Given the description of an element on the screen output the (x, y) to click on. 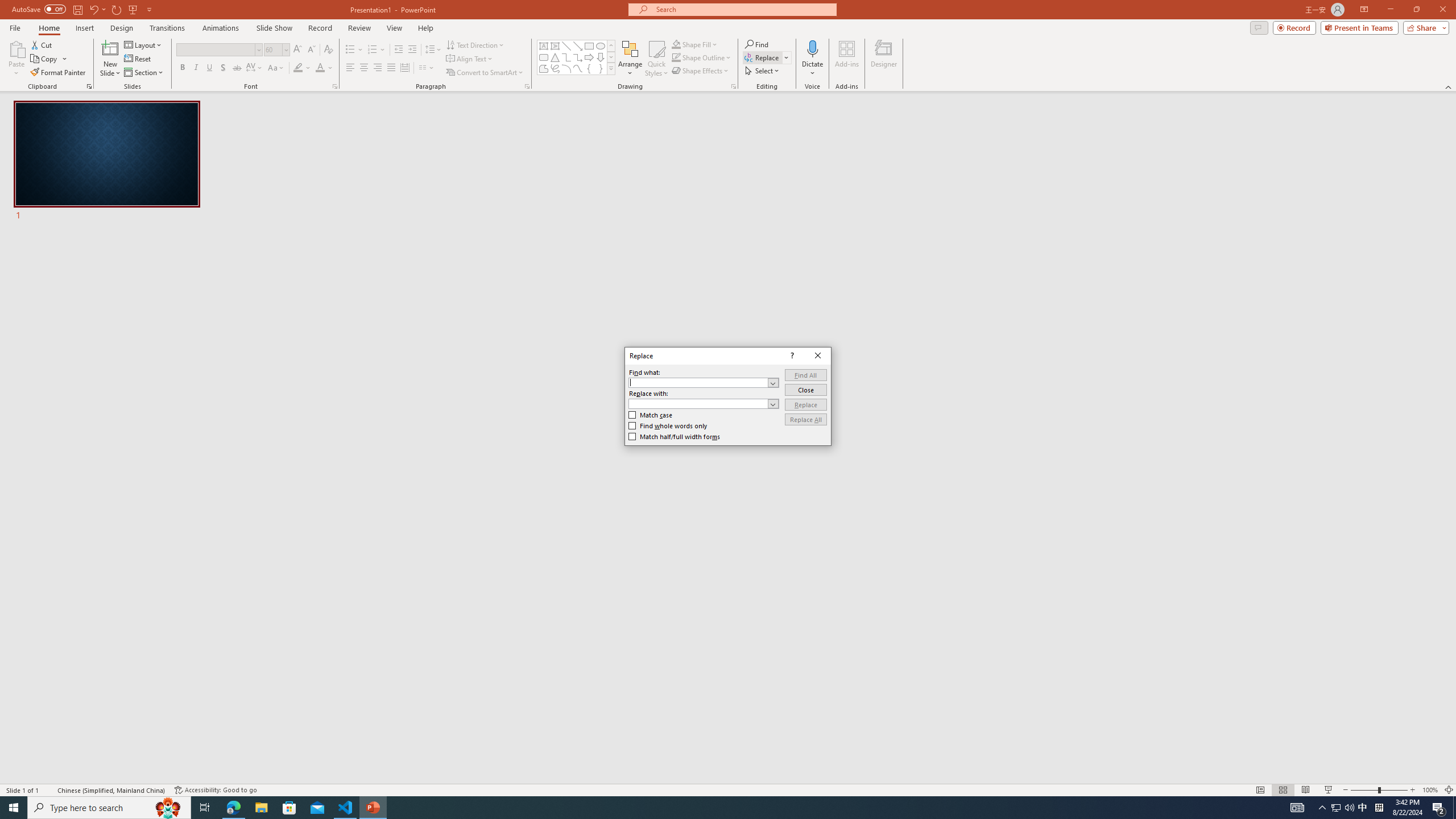
Reset (138, 58)
Replace All (805, 418)
Line (566, 45)
Decrease Indent (398, 49)
Rectangle (589, 45)
Layout (143, 44)
Isosceles Triangle (554, 57)
Start (13, 807)
